Given the description of an element on the screen output the (x, y) to click on. 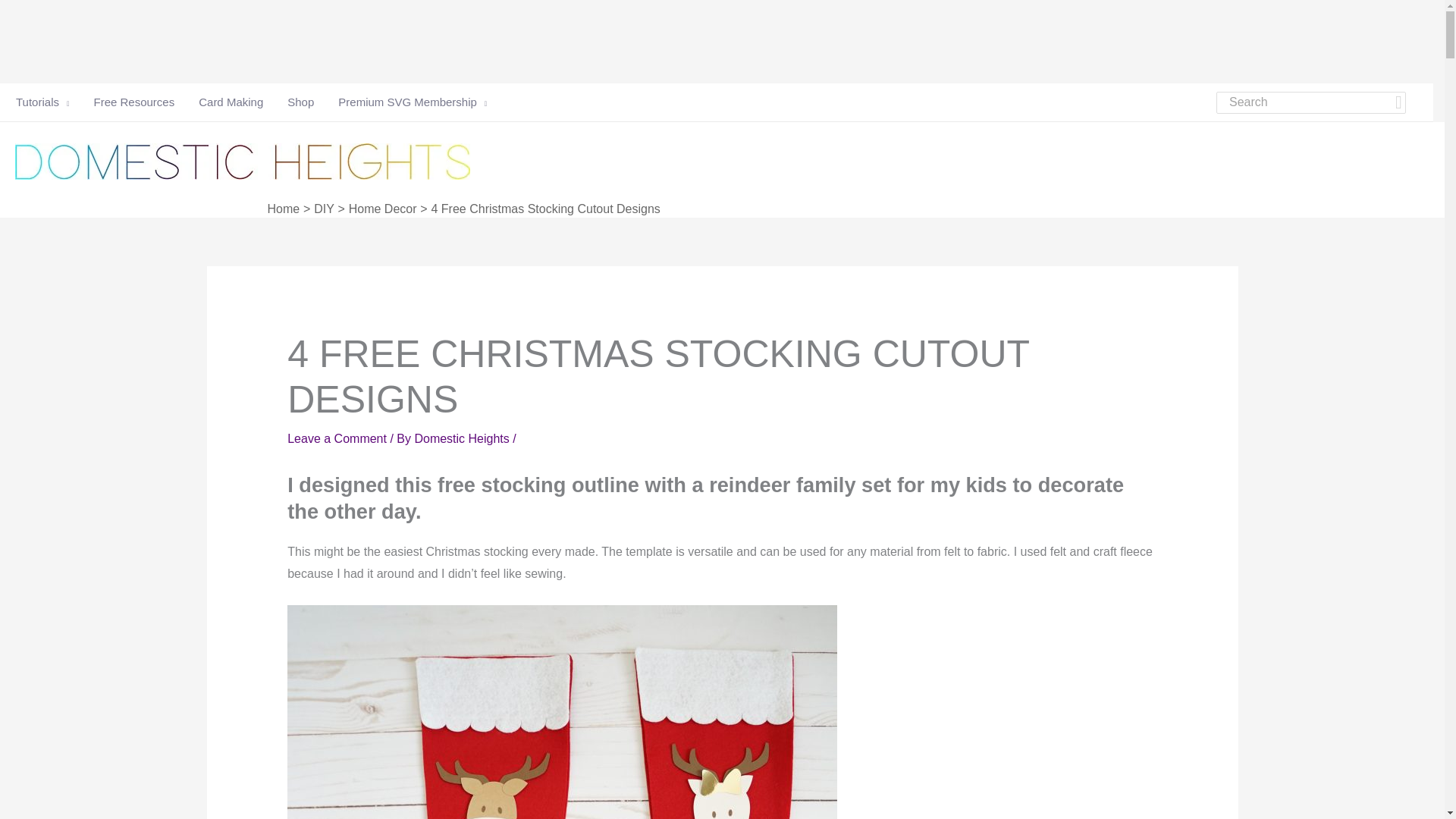
Home (282, 208)
Card Making (230, 102)
DIY (324, 208)
Tutorials (42, 102)
Shop (300, 102)
Premium SVG Membership (406, 102)
Free Resources (133, 102)
Home Decor (382, 208)
View all posts by Domestic Heights (462, 438)
